Given the description of an element on the screen output the (x, y) to click on. 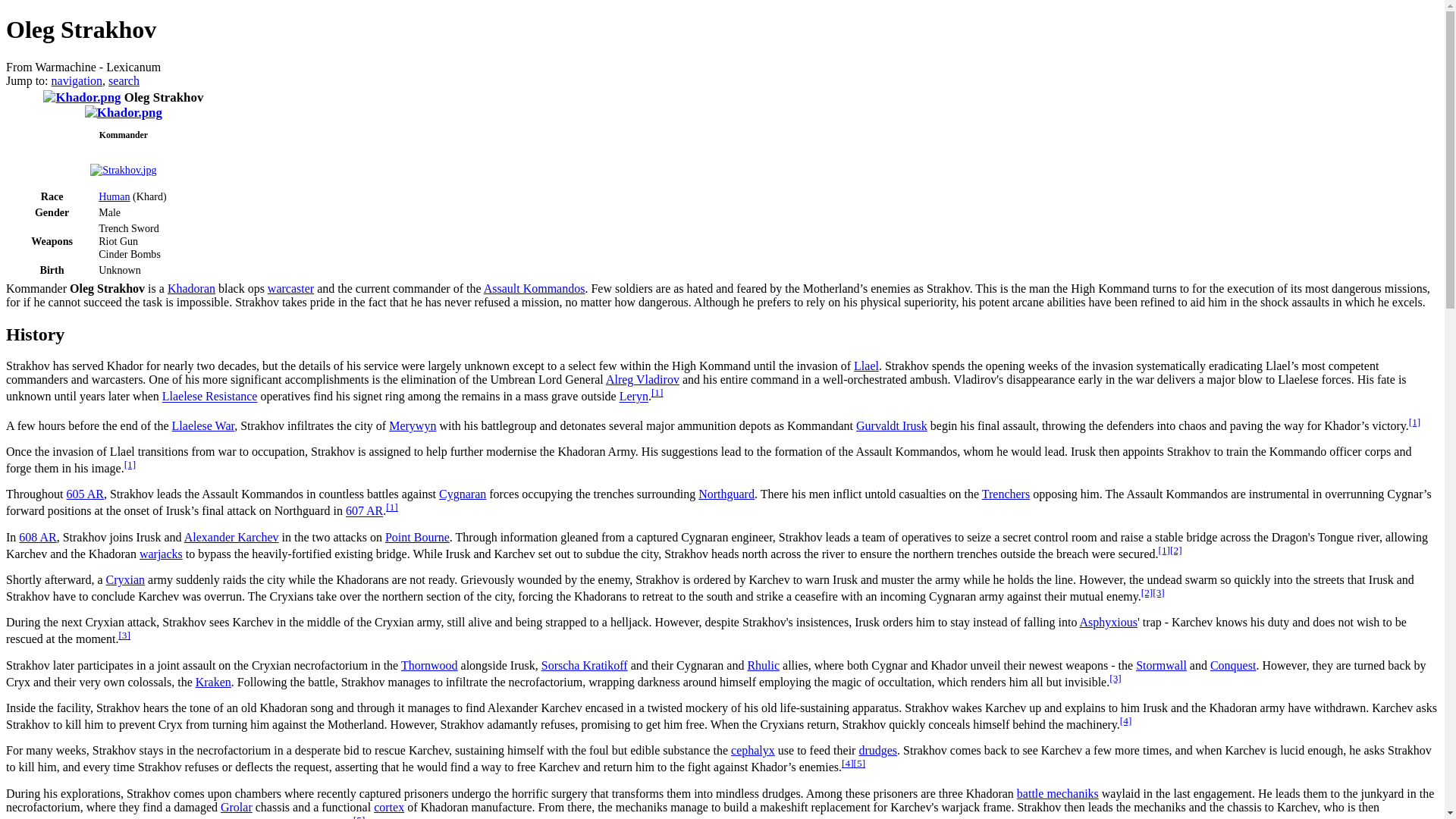
Northguard (726, 493)
search (123, 80)
Khador (81, 97)
Timeline (364, 511)
Khadoran (191, 287)
Llaelese War (202, 425)
605 AR (84, 493)
Cygnaran (462, 493)
Sorscha Kratikoff (584, 665)
Merywyn (411, 425)
